Given the description of an element on the screen output the (x, y) to click on. 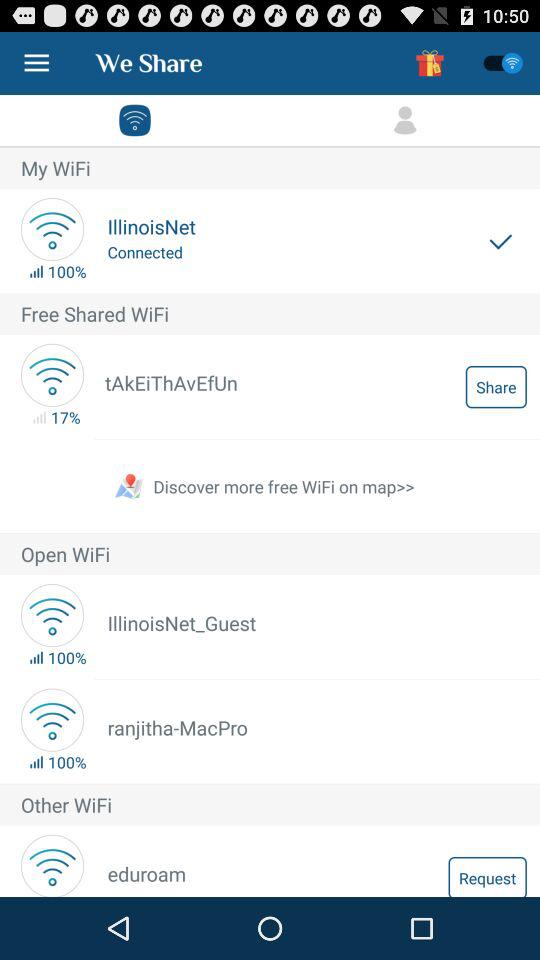
flip to the share icon (495, 386)
